Given the description of an element on the screen output the (x, y) to click on. 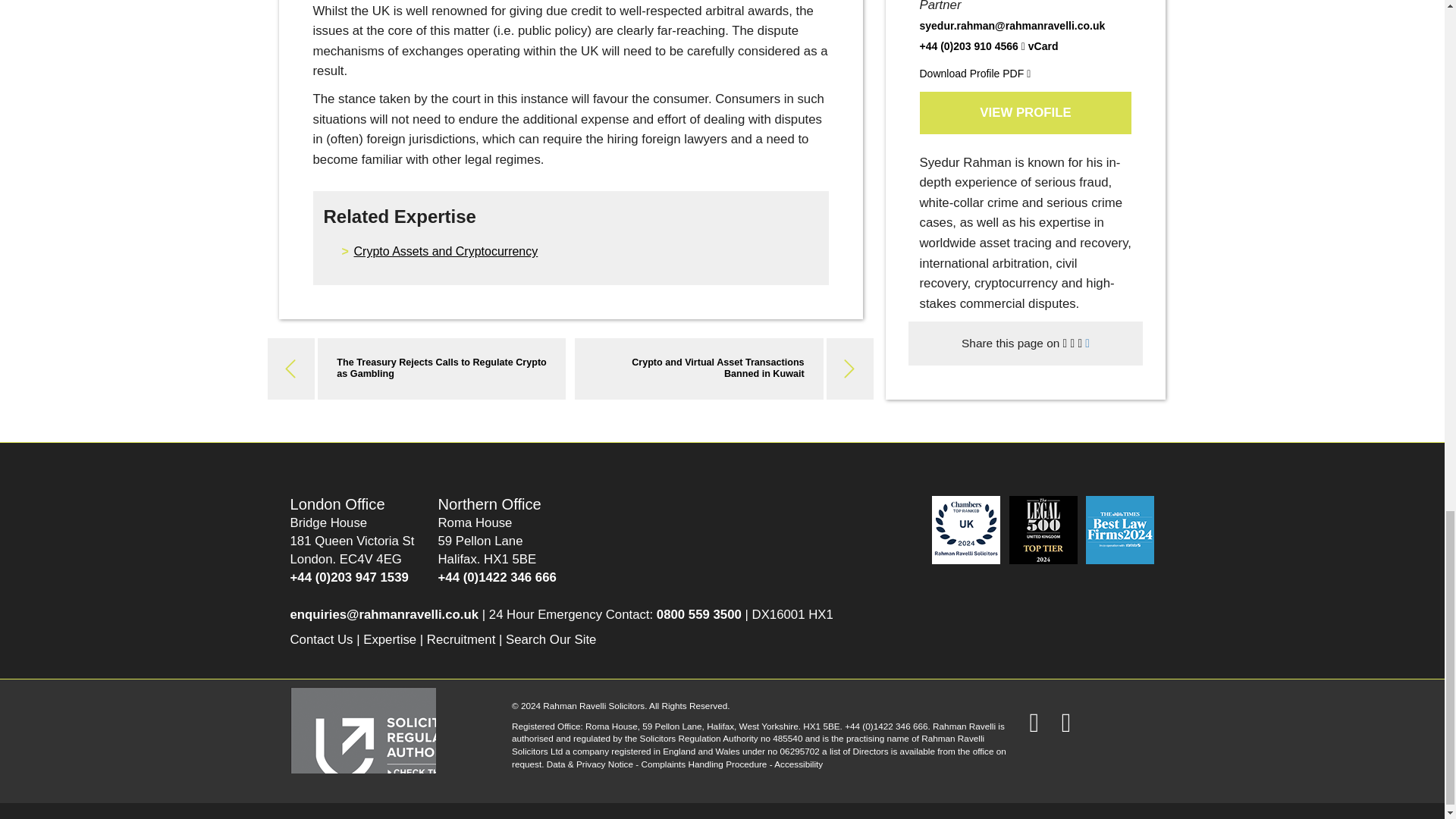
Link to: Crypto Assets and Cryptocurrency (445, 250)
link to view the Rahman Ravelli profile at Legal500 website (1044, 528)
